Given the description of an element on the screen output the (x, y) to click on. 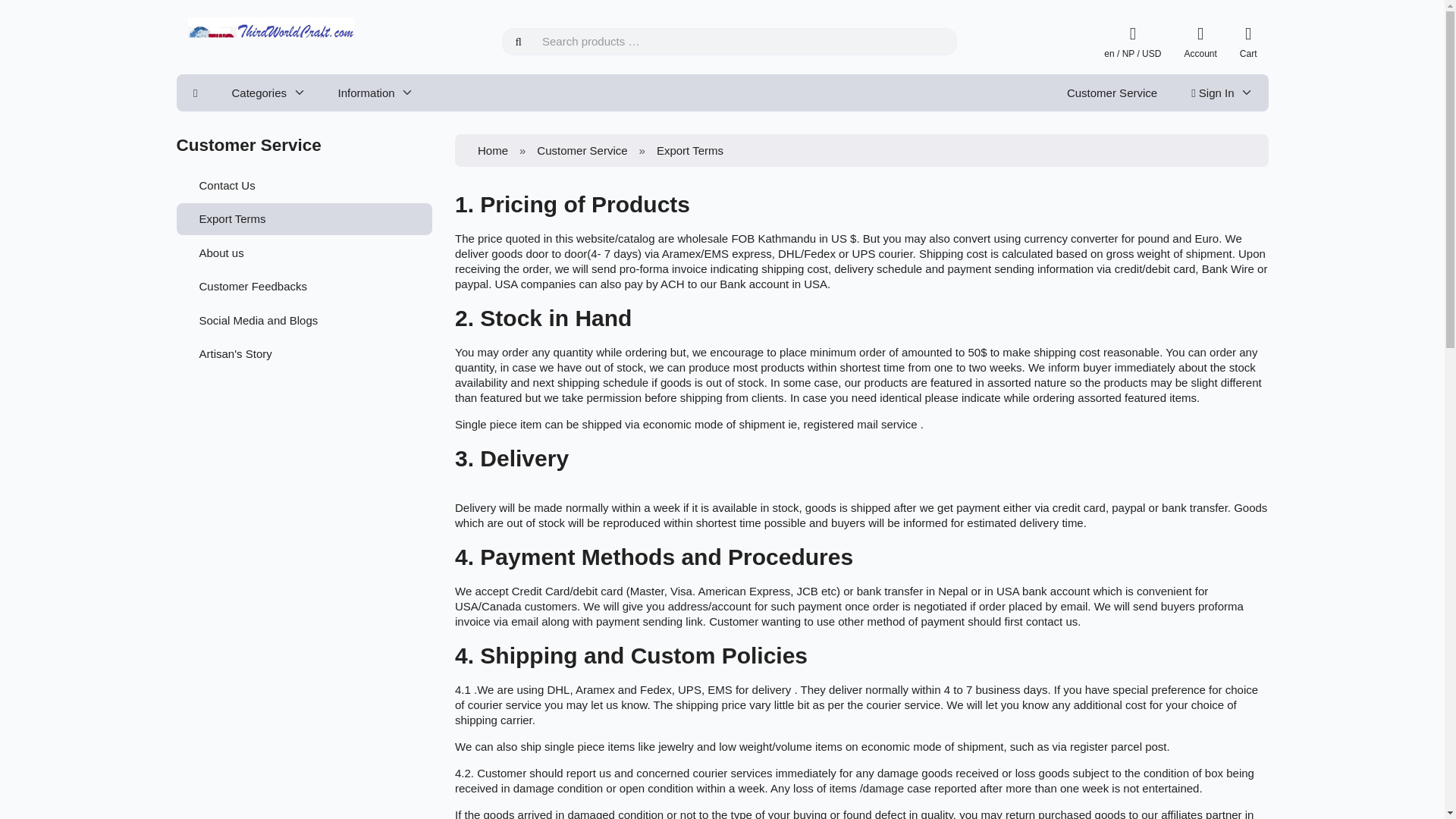
About us (304, 252)
Customer Feedbacks (304, 286)
Contact Us (304, 184)
Sign In (1221, 93)
Export Terms (304, 219)
Information (374, 93)
Social Media and Blogs (304, 319)
Customer Service (1111, 93)
Sign In (1163, 216)
Categories (267, 93)
